Given the description of an element on the screen output the (x, y) to click on. 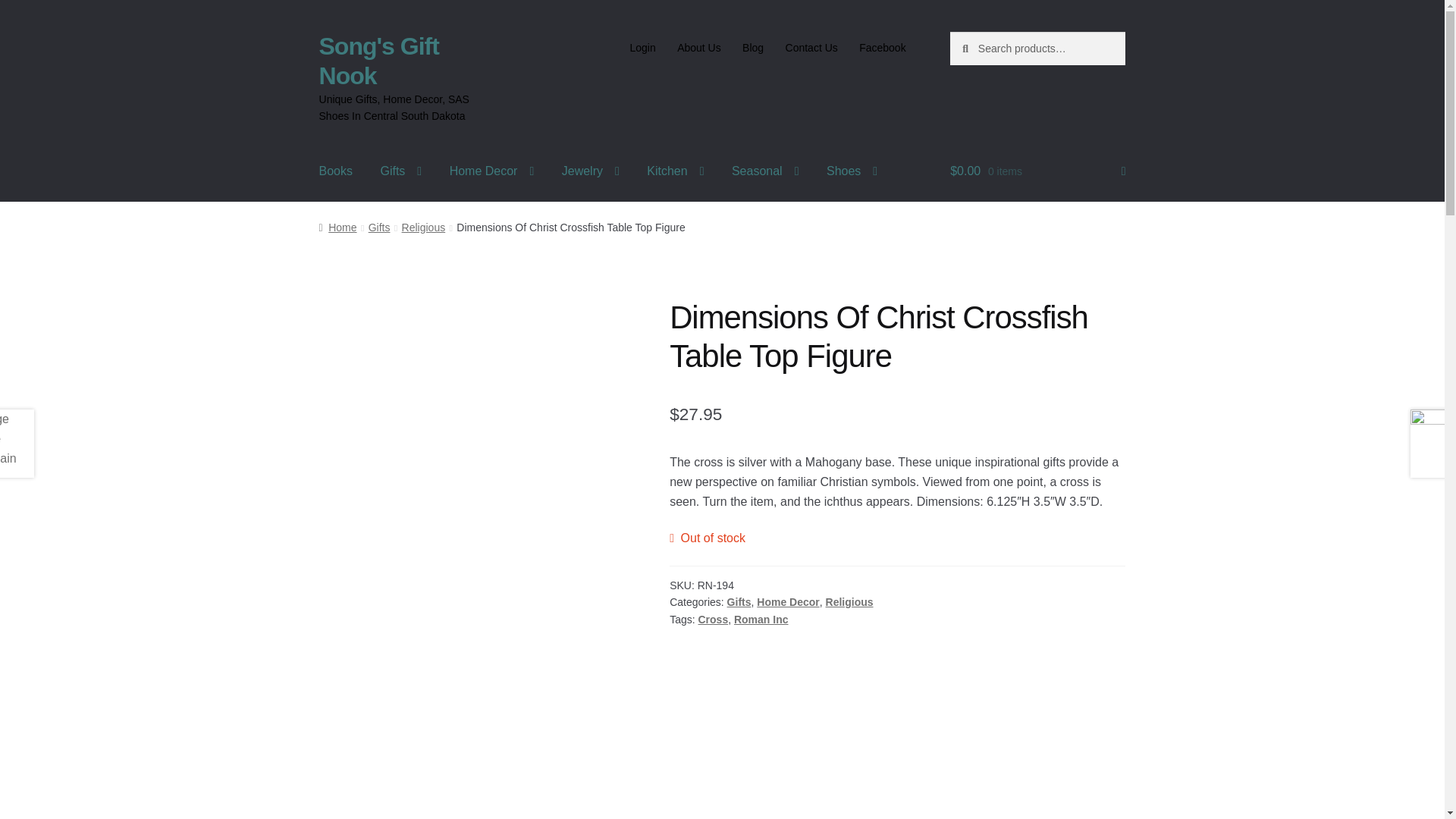
Gifts (400, 170)
About Us (699, 47)
Blog (753, 47)
Contact Us (811, 47)
Song's Gift Nook (378, 60)
Login (642, 47)
View your shopping cart (1037, 170)
Home Decor (492, 170)
Facebook (882, 47)
Books (336, 170)
